Given the description of an element on the screen output the (x, y) to click on. 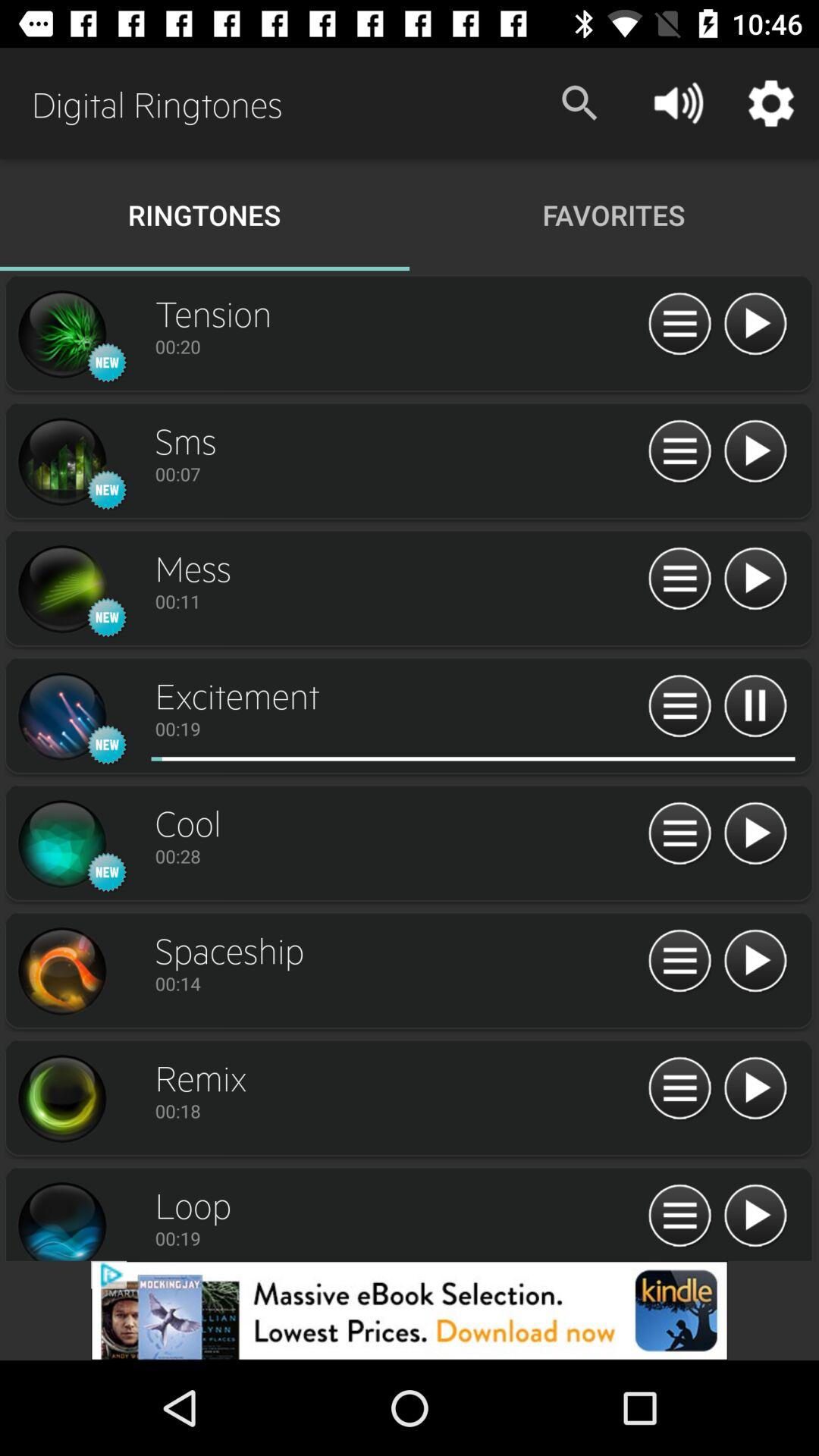
setting (61, 462)
